Given the description of an element on the screen output the (x, y) to click on. 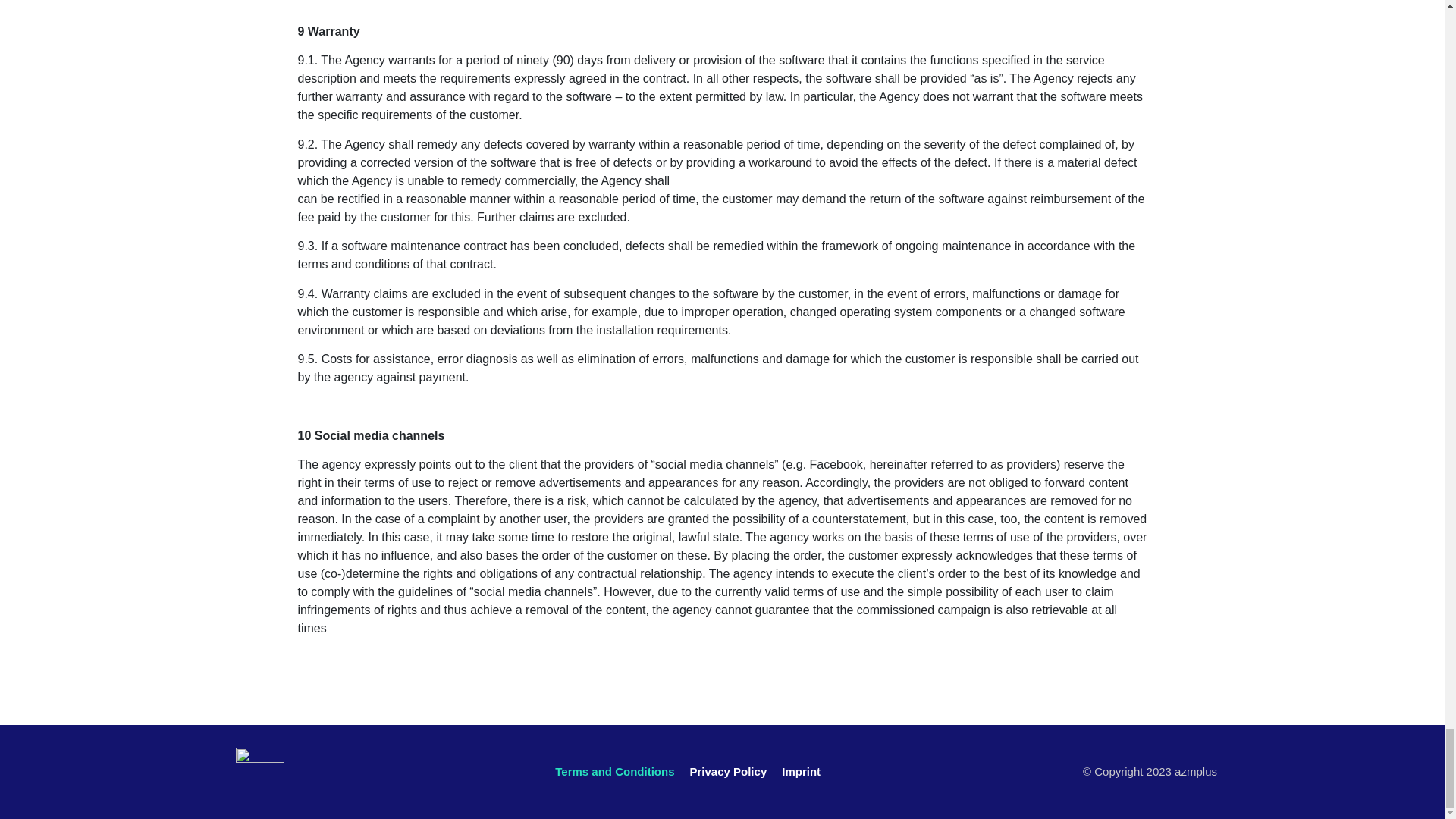
Privacy Policy (727, 772)
Terms and Conditions (614, 772)
Imprint (801, 772)
